Given the description of an element on the screen output the (x, y) to click on. 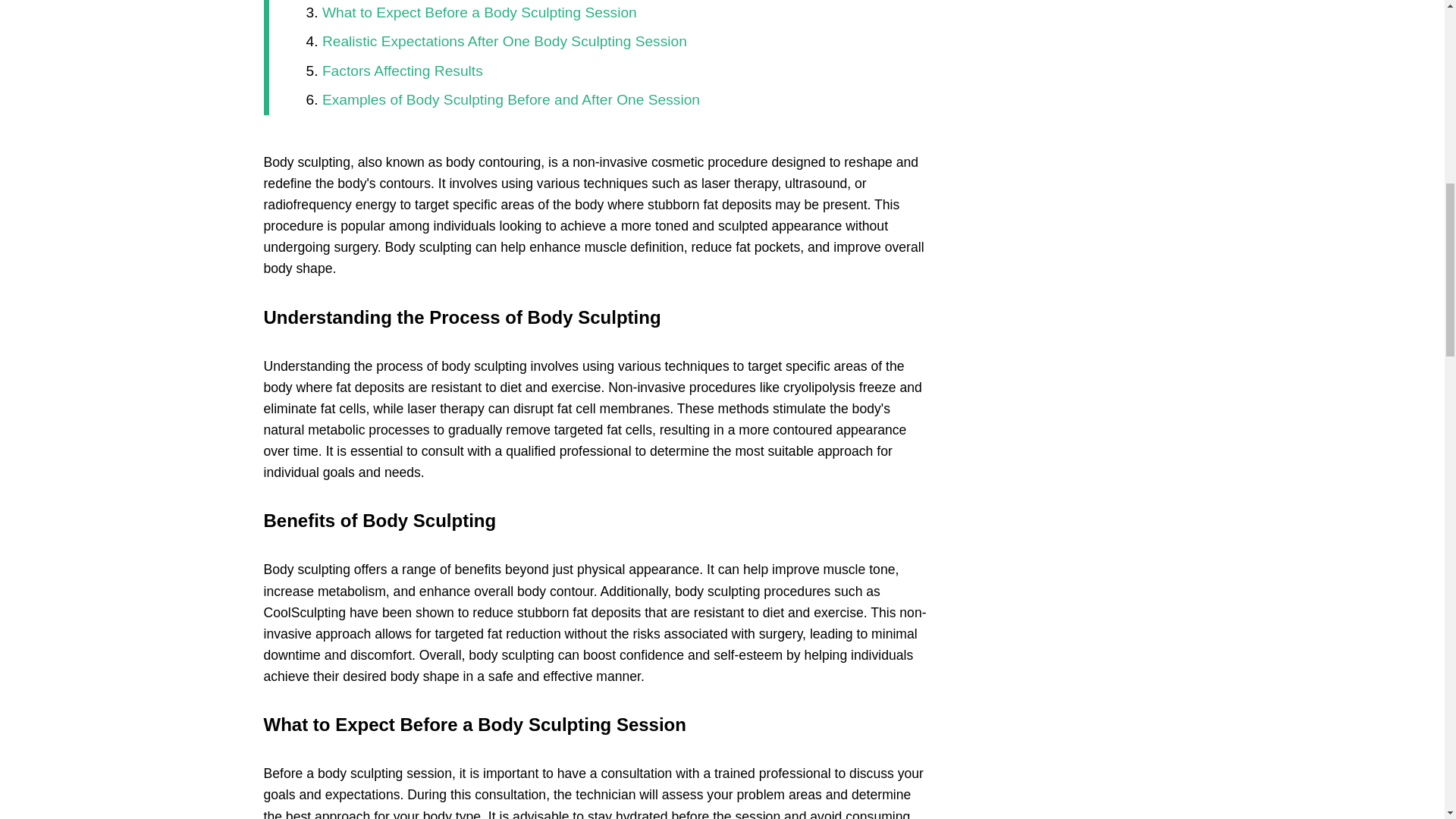
What to Expect Before a Body Sculpting Session (479, 12)
Realistic Expectations After One Body Sculpting Session (504, 41)
Factors Affecting Results (402, 70)
Examples of Body Sculpting Before and After One Session (510, 99)
